Given the description of an element on the screen output the (x, y) to click on. 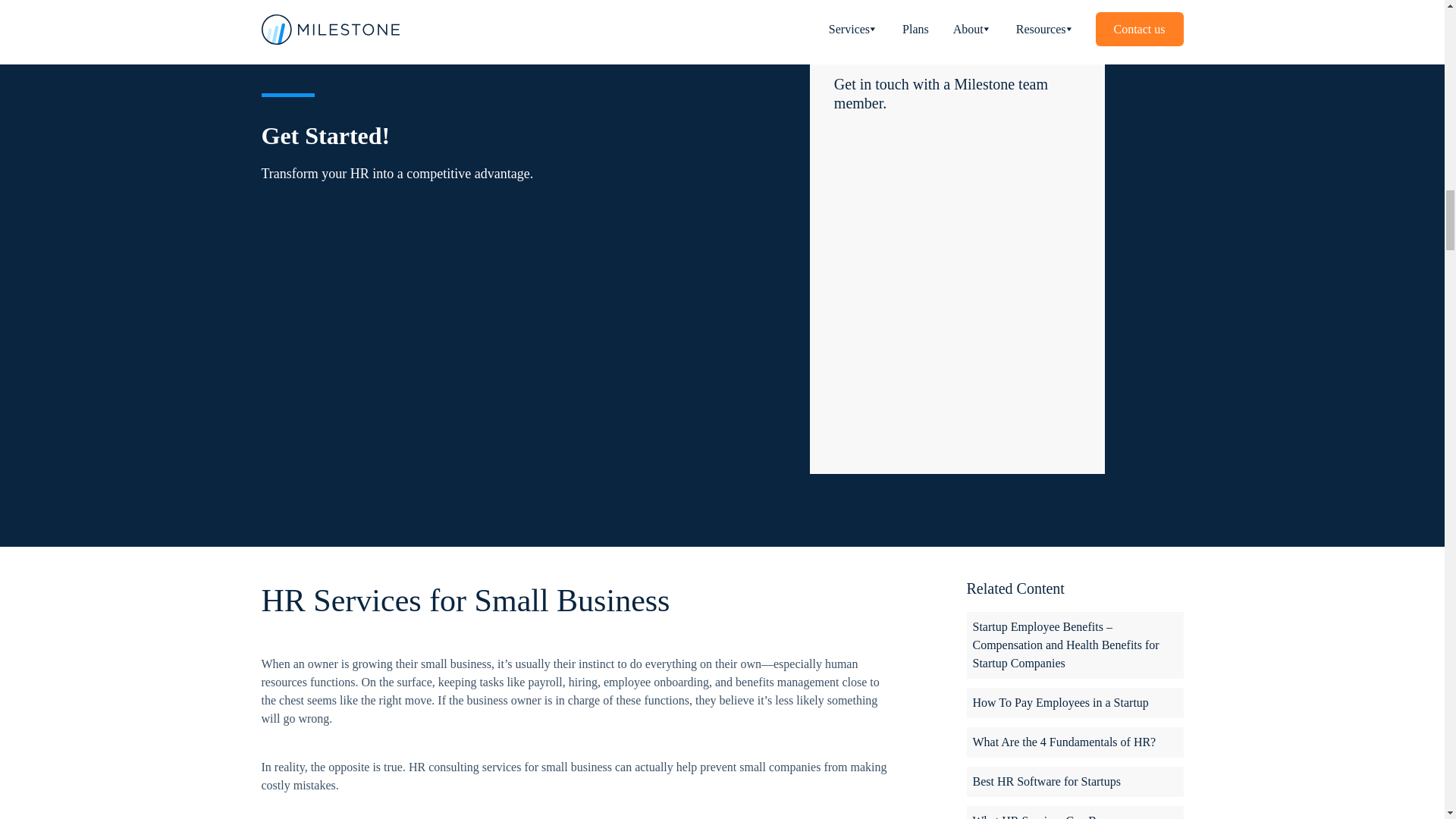
What HR Services Can Be Outsourced? (1074, 812)
Best HR Software for Startups (1074, 781)
What Are the 4 Fundamentals of HR? (1074, 742)
How To Pay Employees in a Startup (1074, 702)
